Given the description of an element on the screen output the (x, y) to click on. 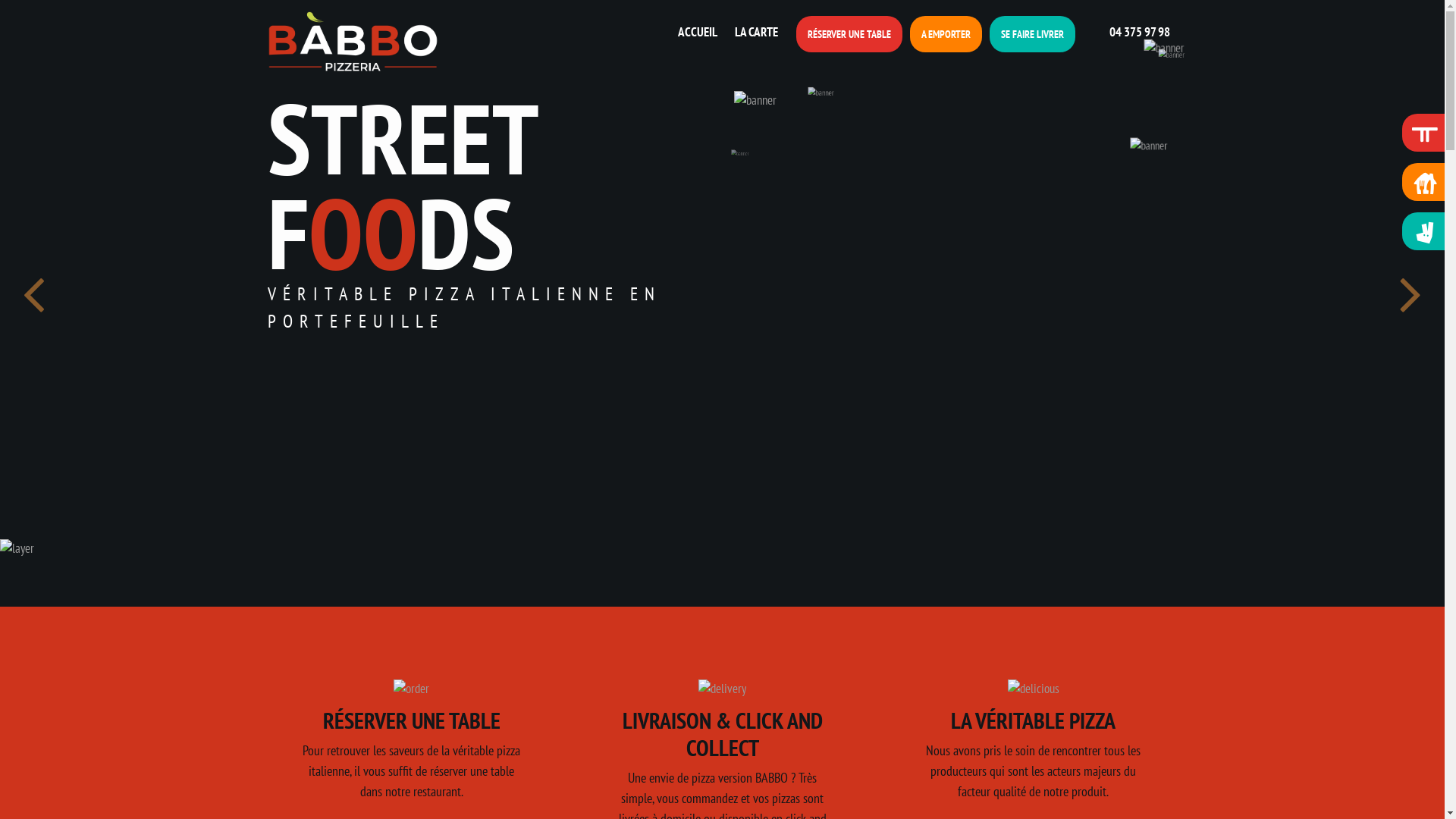
ACCUEIL Element type: text (698, 32)
SE FAIRE LIVRER Element type: text (1031, 33)
A EMPORTER Element type: text (946, 33)
04 375 97 98 Element type: text (1126, 30)
LA CARTE Element type: text (753, 32)
